Given the description of an element on the screen output the (x, y) to click on. 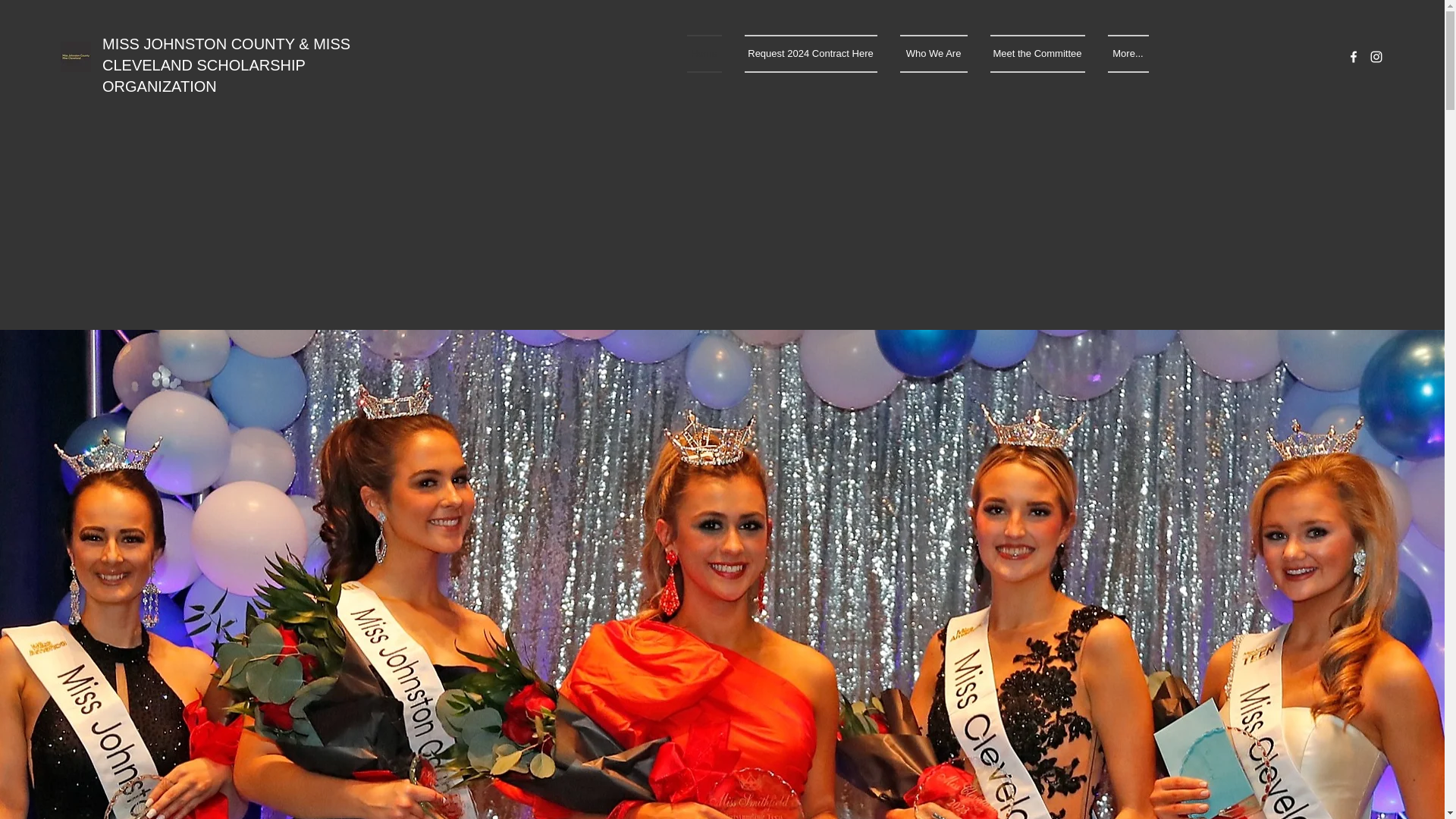
Home (710, 53)
Who We Are (933, 53)
Meet the Committee (1037, 53)
Request 2024 Contract Here (810, 53)
